Given the description of an element on the screen output the (x, y) to click on. 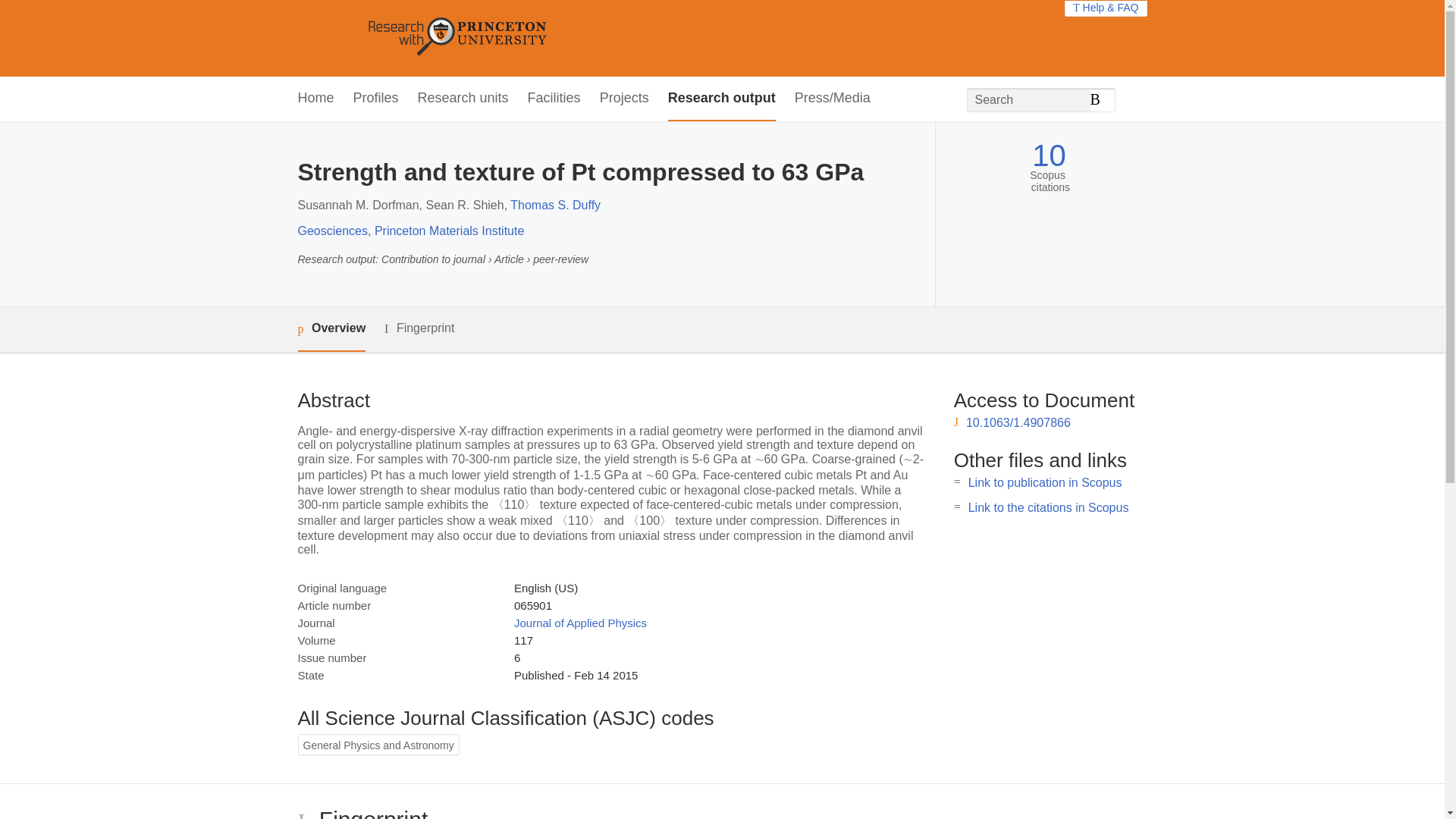
Geosciences (332, 230)
Overview (331, 329)
Research units (462, 98)
Research output (722, 98)
Thomas S. Duffy (555, 205)
Princeton University Home (567, 38)
Link to the citations in Scopus (1048, 507)
Facilities (553, 98)
Princeton Materials Institute (449, 230)
Profiles (375, 98)
10 (1048, 155)
Link to publication in Scopus (1045, 481)
Fingerprint (419, 328)
Projects (624, 98)
